Given the description of an element on the screen output the (x, y) to click on. 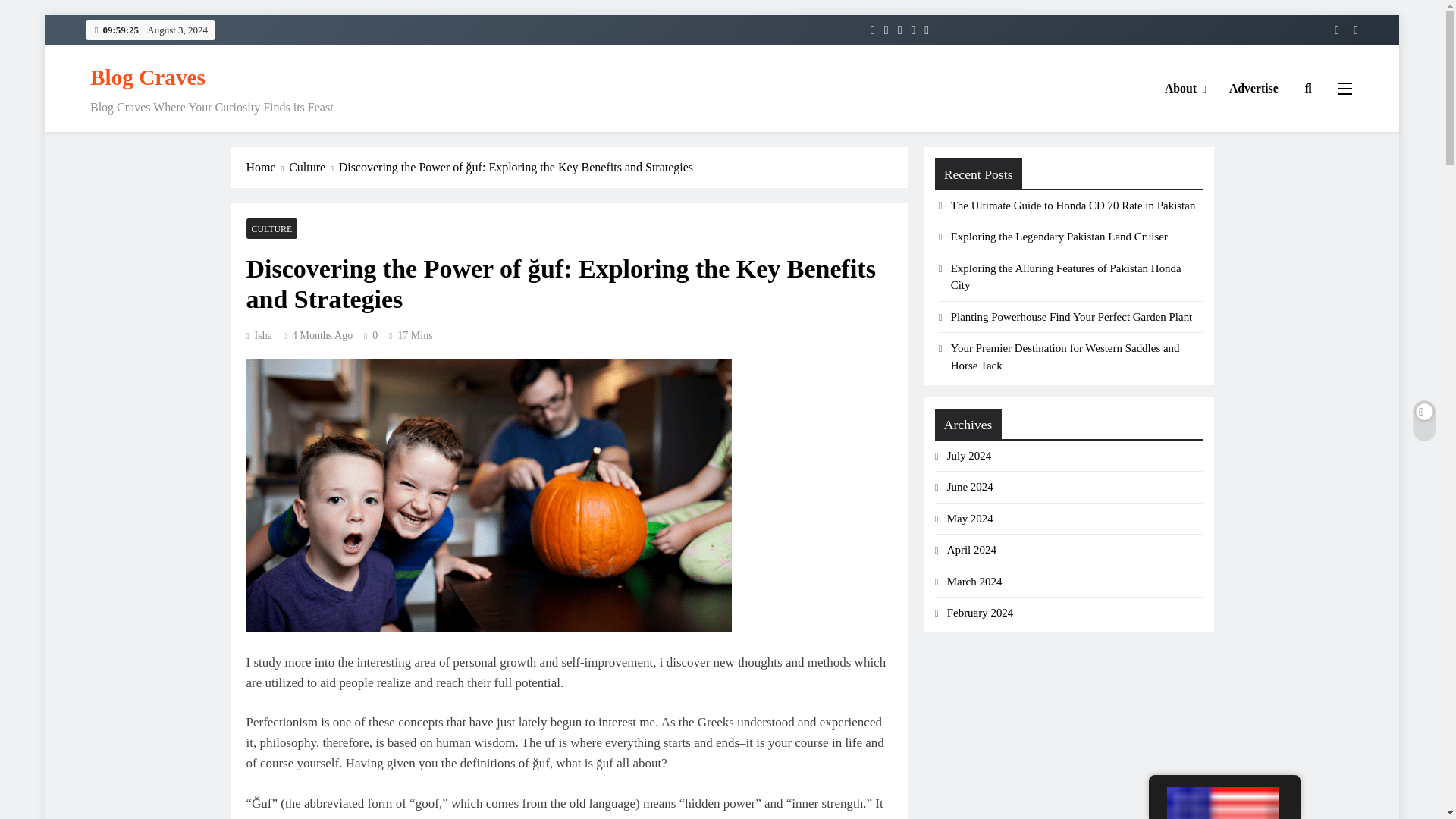
English (1222, 803)
Blog Craves (147, 77)
Advertise (1253, 87)
About (1185, 88)
